Given the description of an element on the screen output the (x, y) to click on. 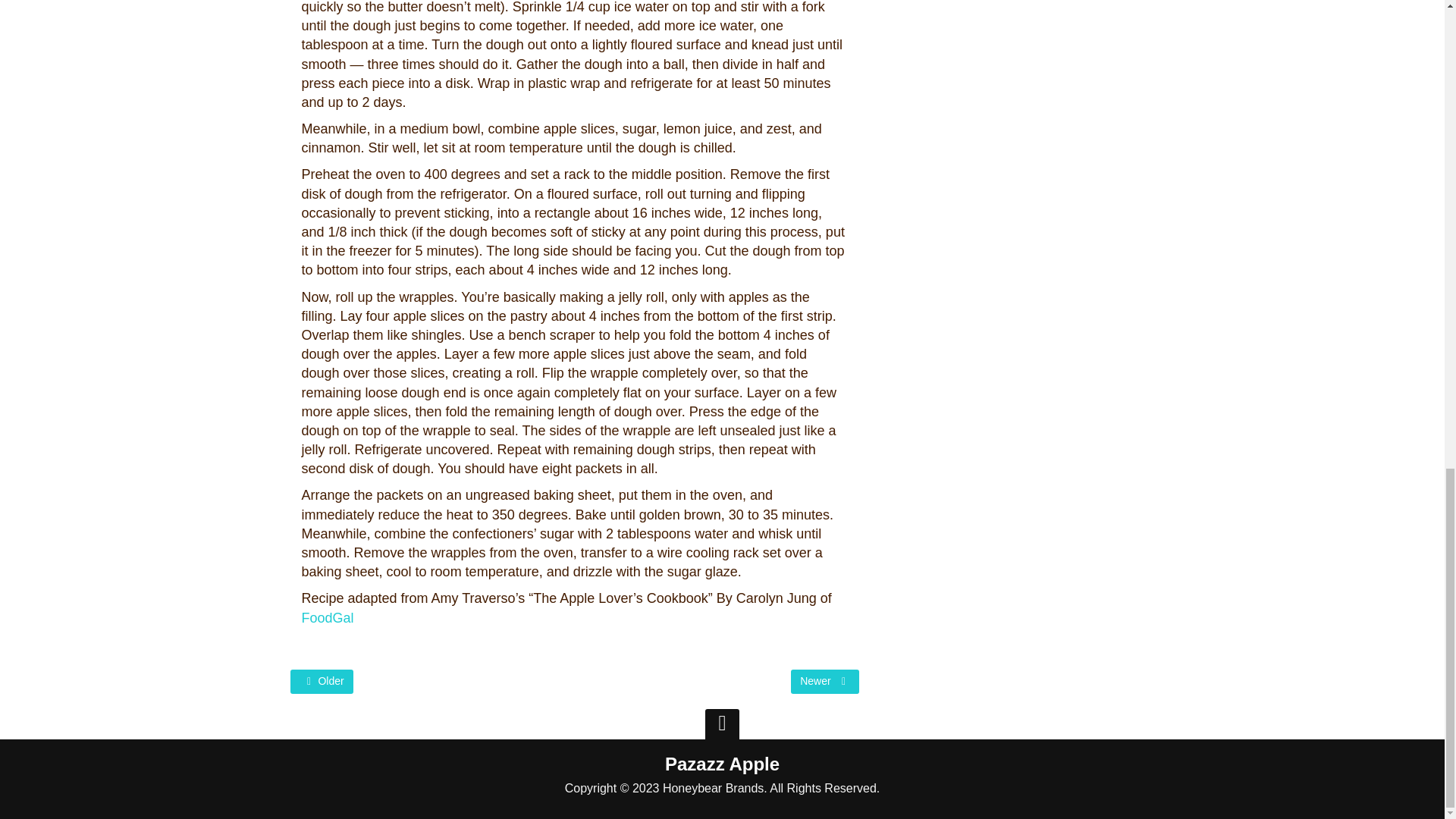
FoodGal (327, 617)
Pazazz Apple (721, 764)
Older (320, 681)
Newer (824, 681)
